Given the description of an element on the screen output the (x, y) to click on. 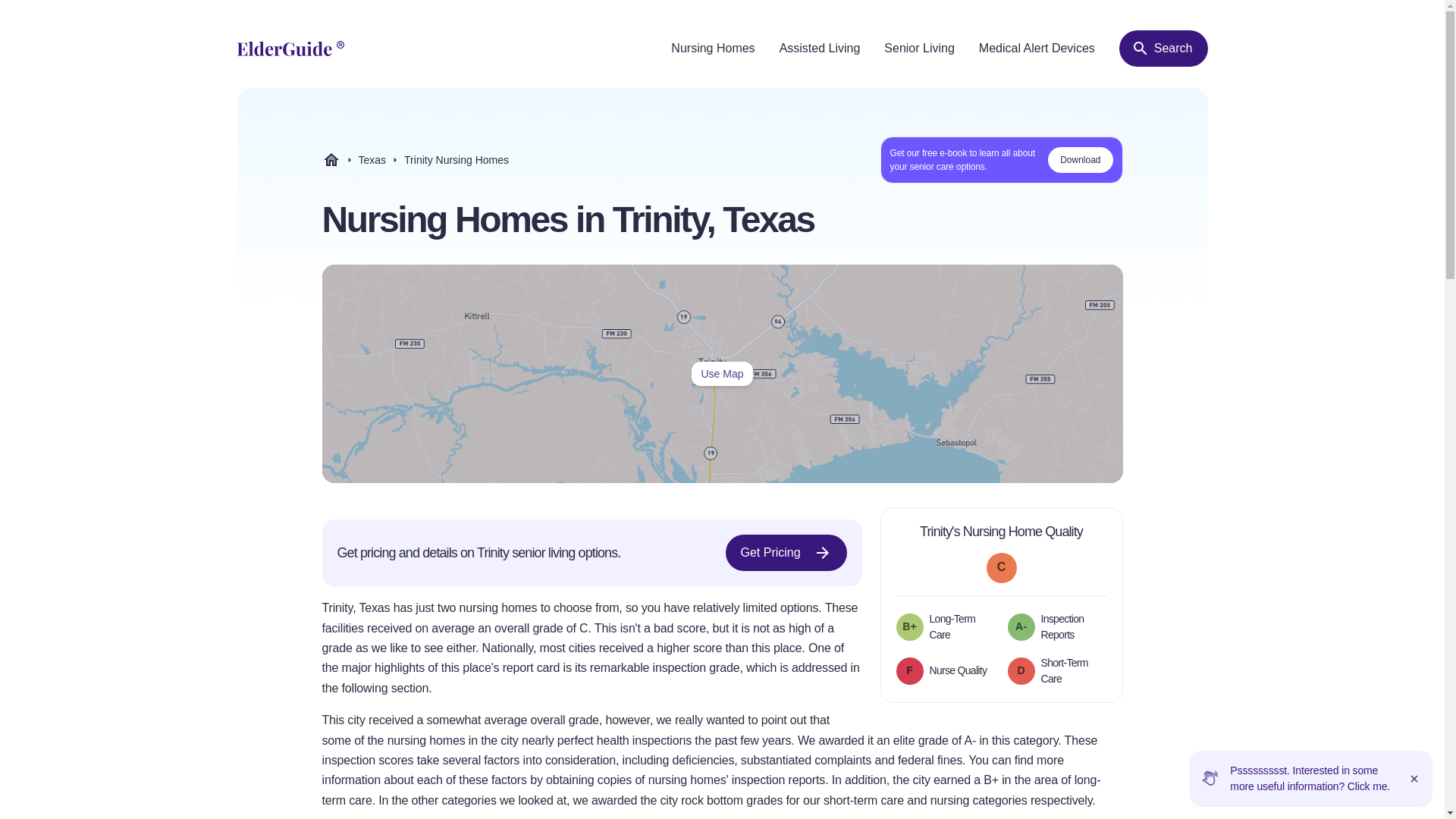
Senior Living (919, 47)
Download (1080, 159)
Medical Alert Devices (1036, 47)
Search (1163, 48)
Assisted Living (819, 47)
Nursing Homes (414, 159)
Get Pricing (712, 47)
Use Map (785, 552)
Texas (721, 373)
ElderGuide.com (371, 159)
